Given the description of an element on the screen output the (x, y) to click on. 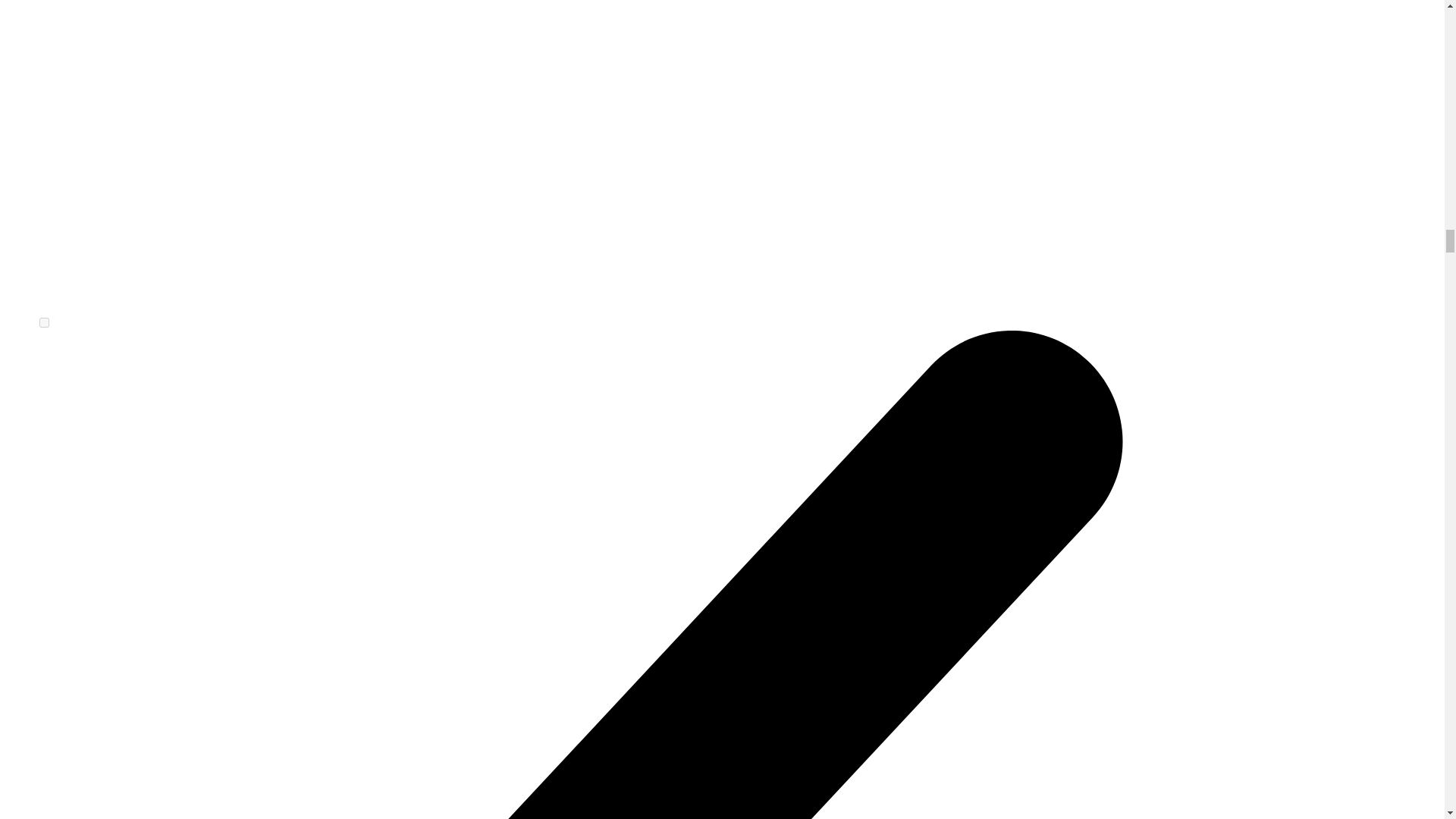
on (44, 322)
